Given the description of an element on the screen output the (x, y) to click on. 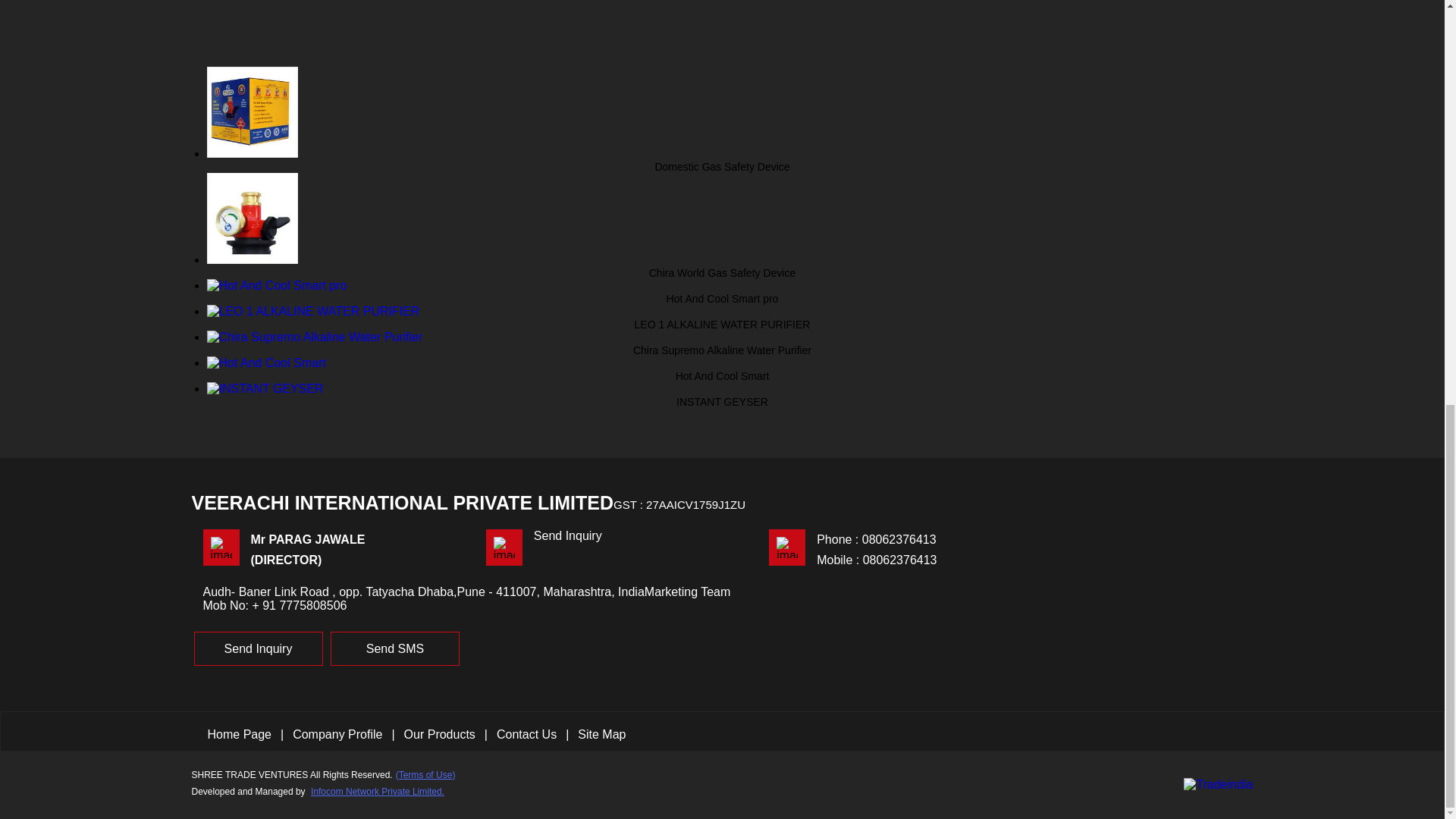
Contact Us (526, 734)
Our Products (440, 734)
Domestic Gas Safety Device (721, 159)
Send Inquiry (257, 648)
Hot And Cool Smart (721, 369)
LEO 1 ALKALINE WATER PURIFIER (721, 317)
Chira World Gas Safety Device (721, 266)
Hot And Cool Smart pro (721, 291)
Site Map (602, 734)
